Given the description of an element on the screen output the (x, y) to click on. 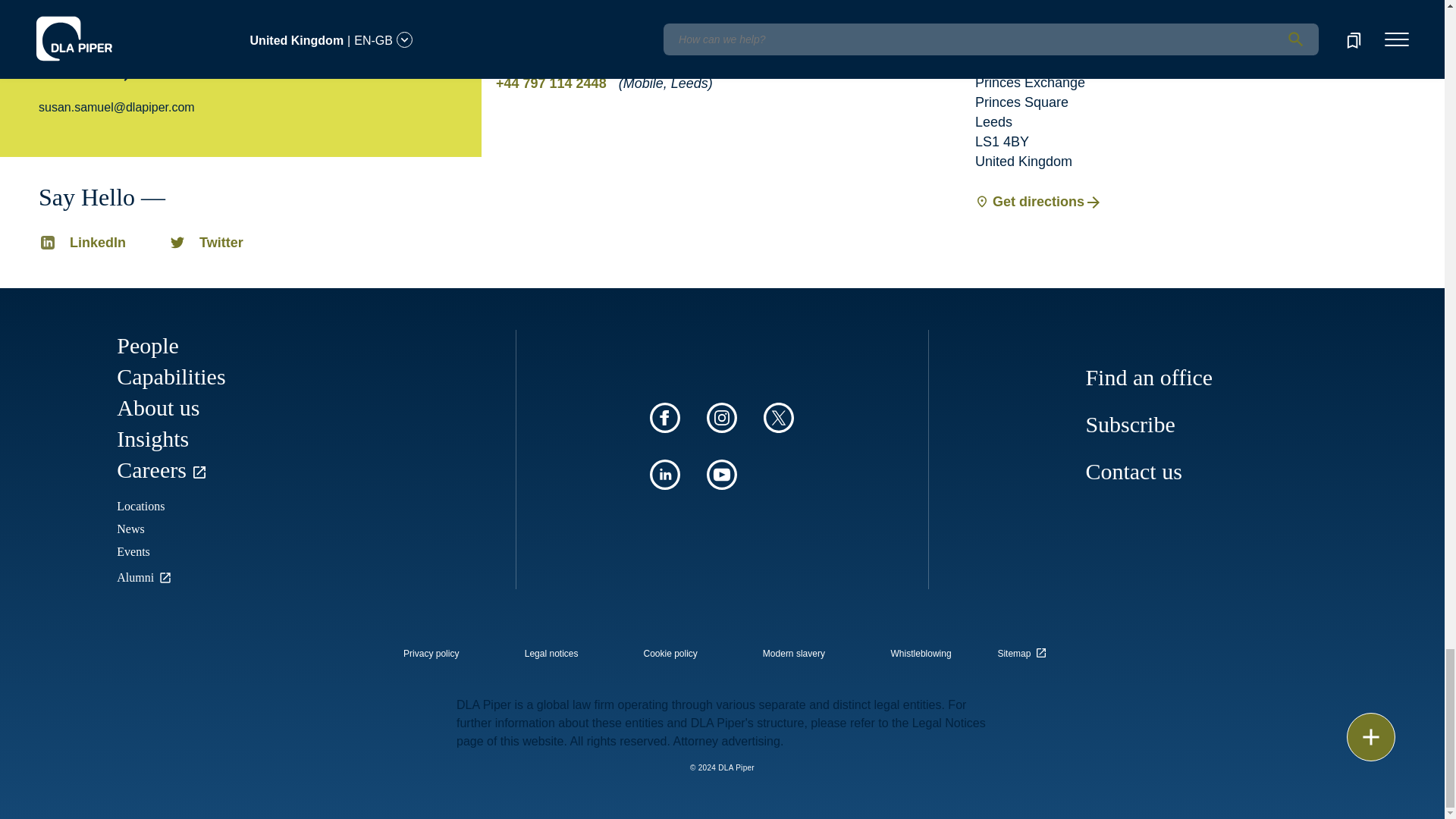
internal (670, 653)
internal (793, 653)
internal (430, 653)
internal (549, 653)
external (1024, 649)
internal (920, 653)
